Given the description of an element on the screen output the (x, y) to click on. 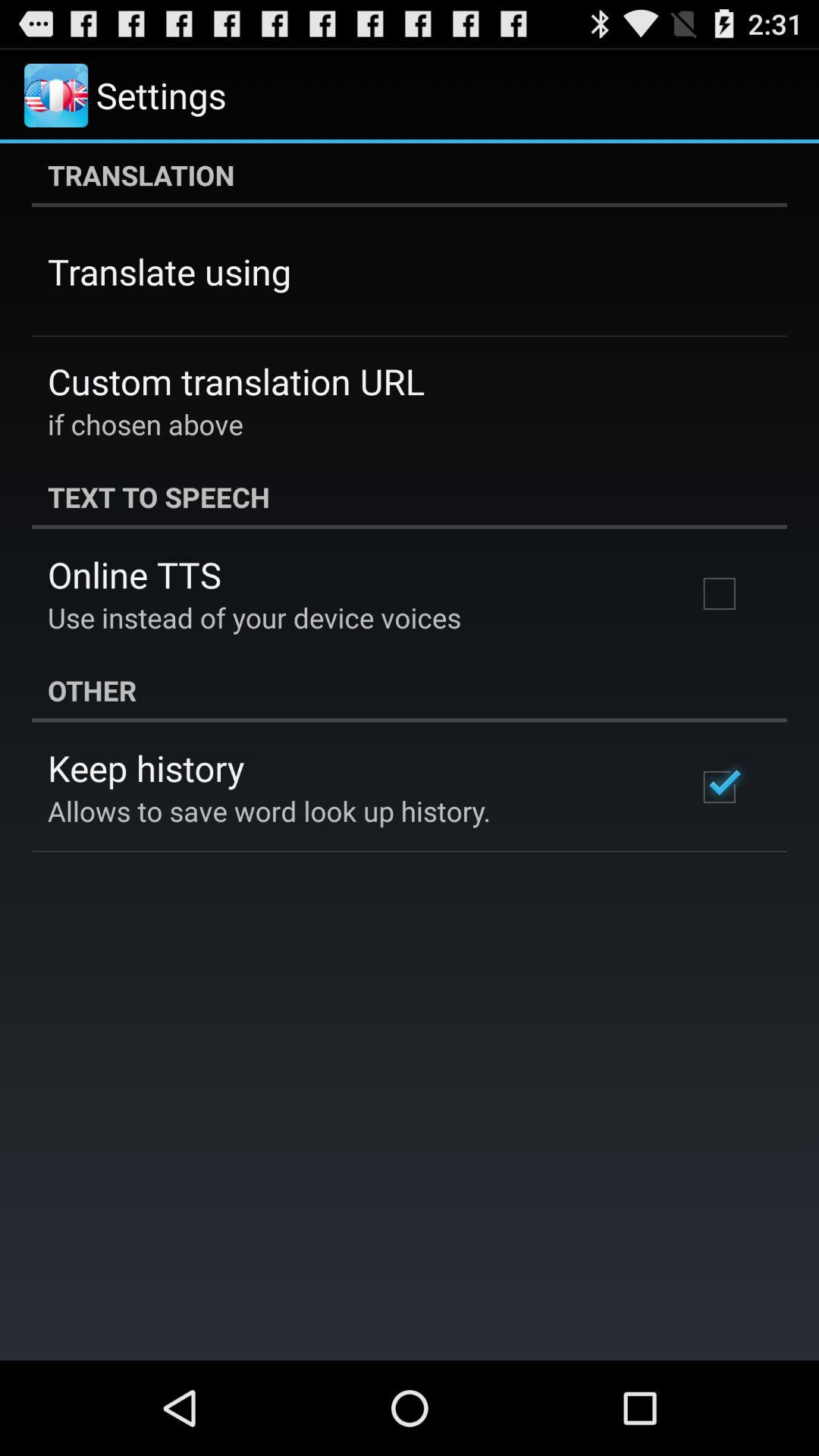
choose the if chosen above item (145, 424)
